Given the description of an element on the screen output the (x, y) to click on. 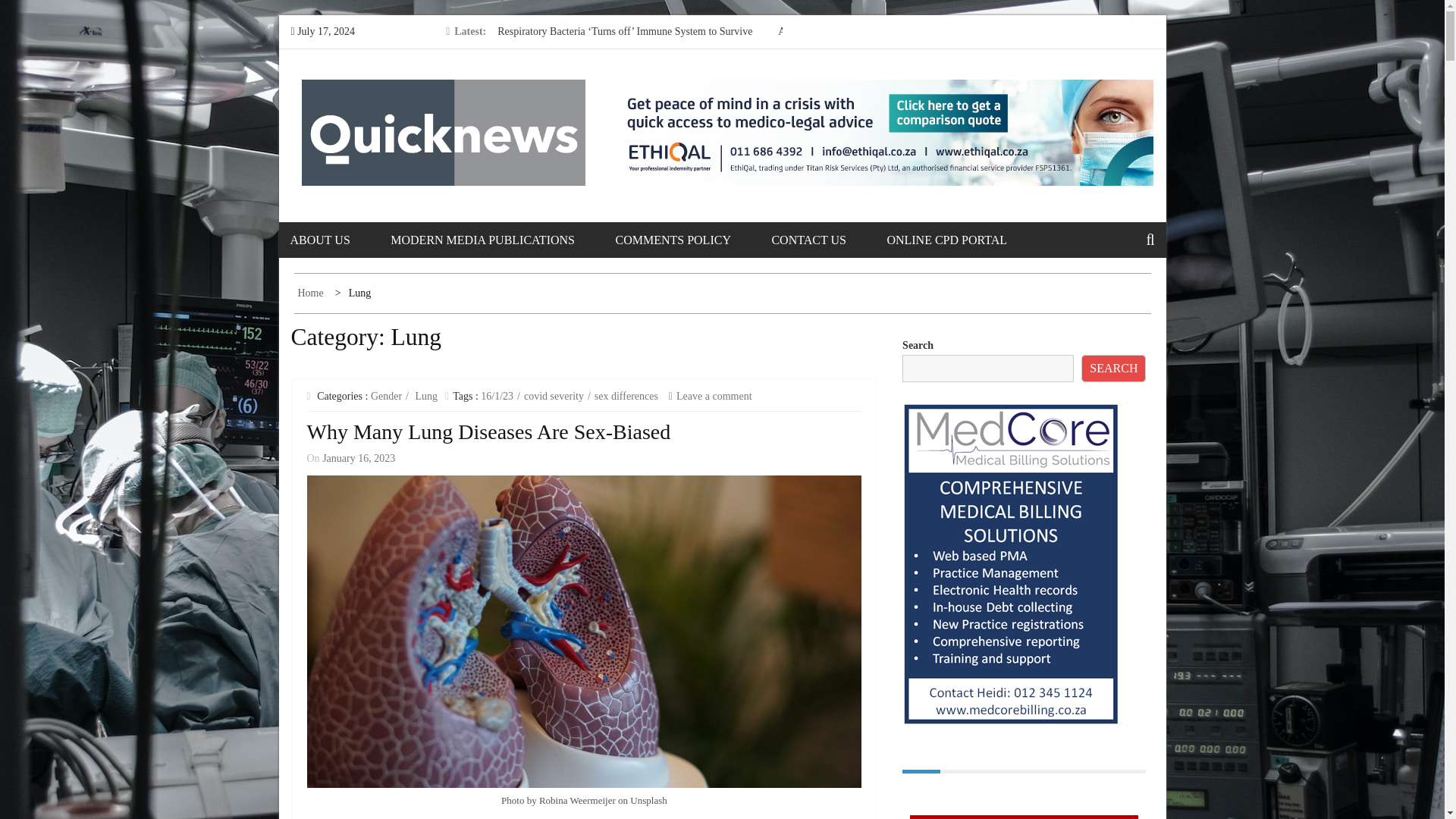
Leave a comment (710, 396)
January 16, 2023 (357, 458)
covid severity (557, 396)
sex differences (628, 396)
Gender (390, 396)
Why Many Lung Diseases Are Sex-Biased (487, 431)
Lung (427, 396)
MODERN MEDIA PUBLICATIONS (501, 239)
QUICKNEWS (407, 100)
ONLINE CPD PORTAL (965, 239)
COMMENTS POLICY (691, 239)
ABOUT US (338, 239)
CONTACT US (827, 239)
Home (311, 292)
